Given the description of an element on the screen output the (x, y) to click on. 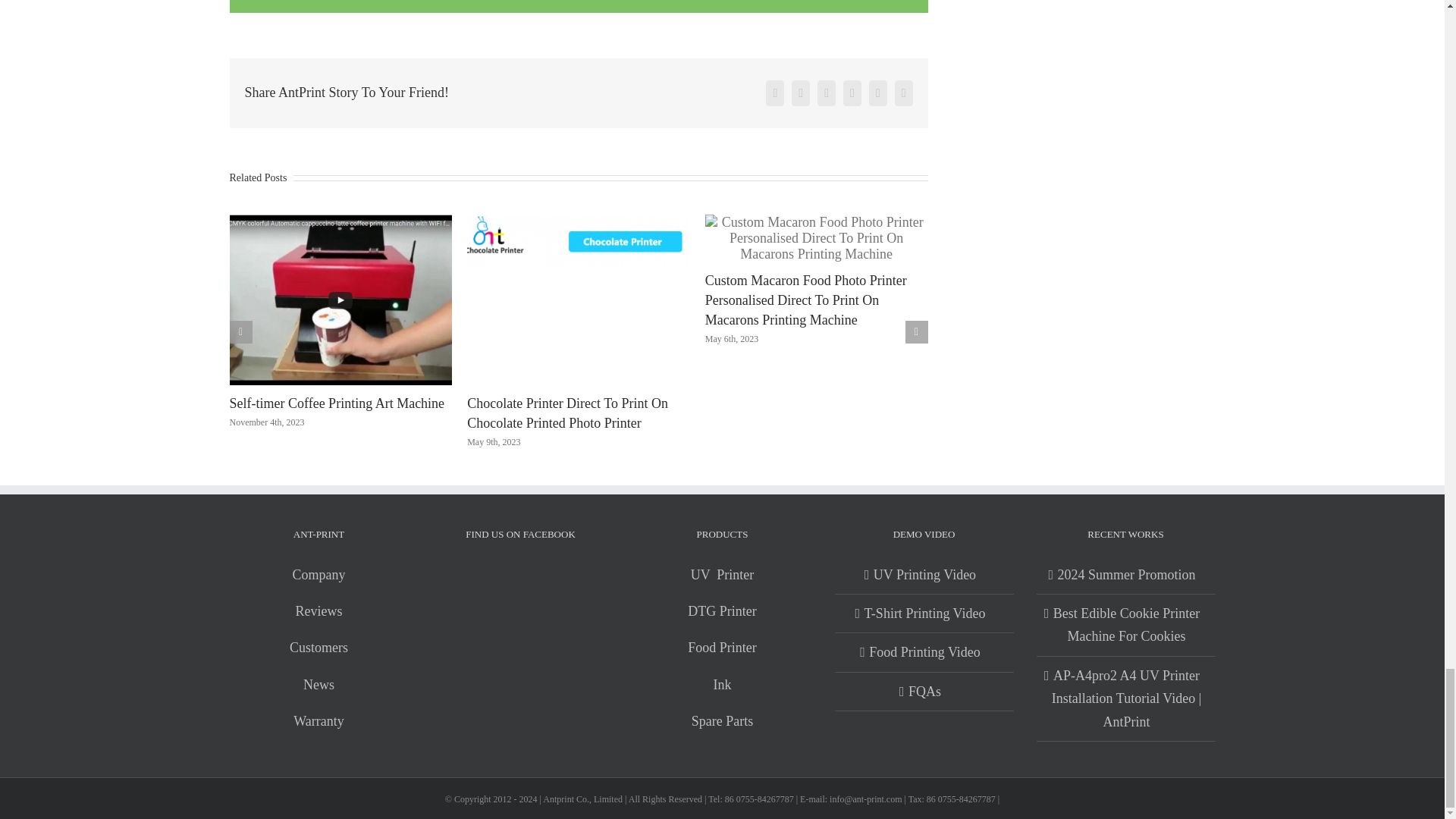
Self-timer Coffee Printing Art Machine (336, 403)
